Given the description of an element on the screen output the (x, y) to click on. 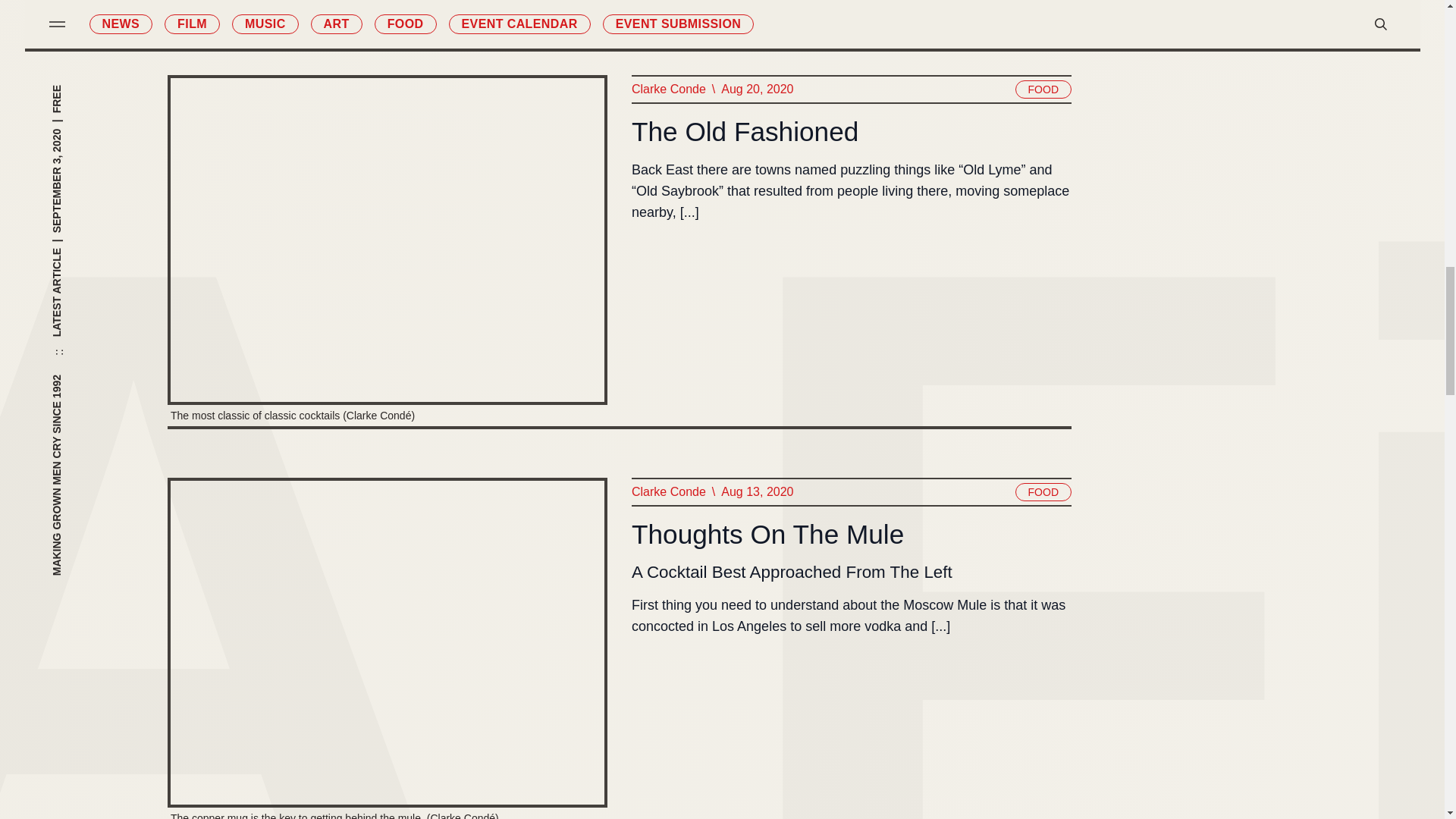
Clarke Conde (667, 88)
FOOD (1042, 89)
Clarke Conde (667, 491)
FOOD (1042, 492)
